Given the description of an element on the screen output the (x, y) to click on. 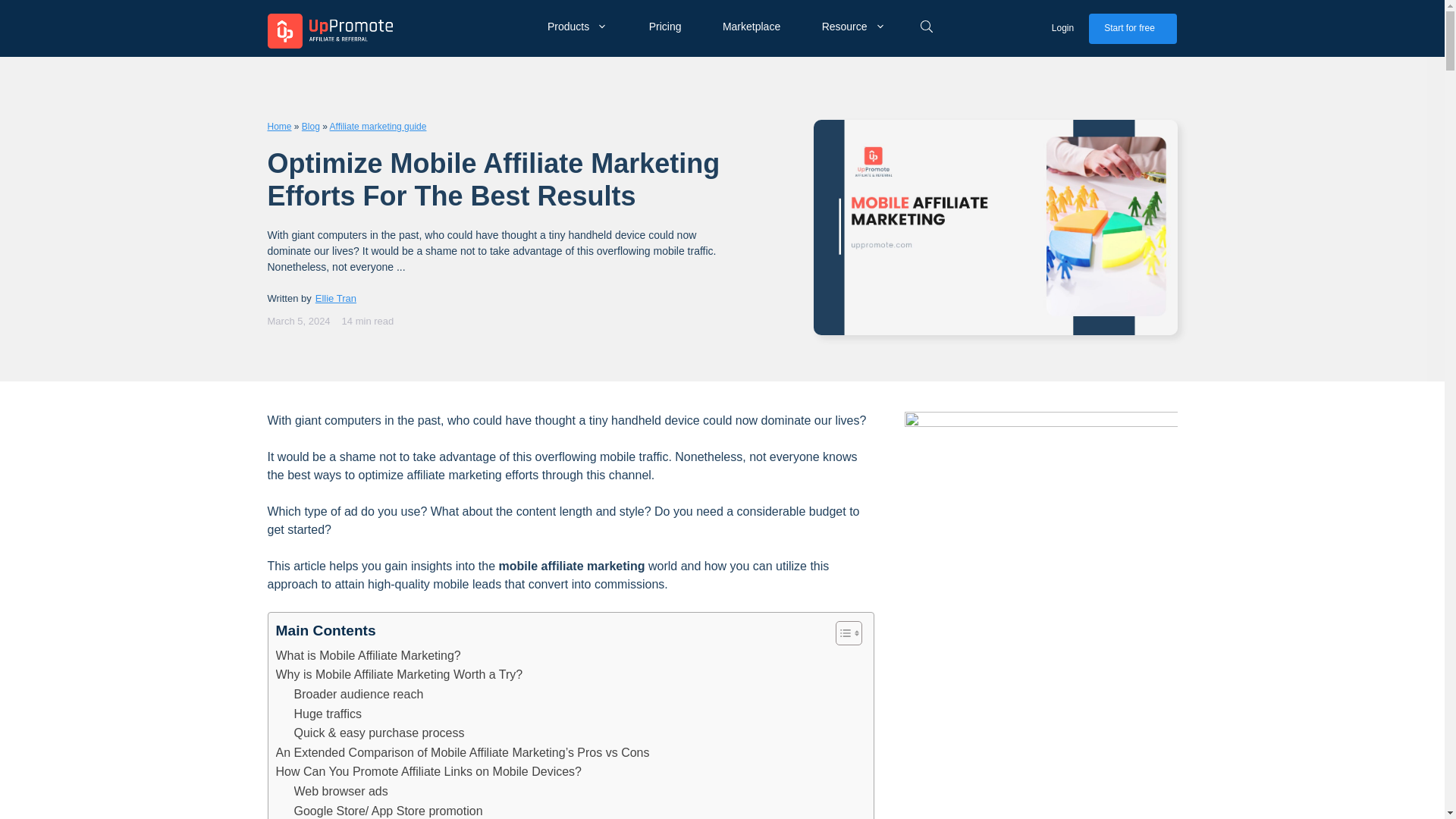
How Can You Promote Affiliate Links on Mobile Devices? (428, 772)
Web browser ads (341, 791)
Broader audience reach (358, 694)
How Can You Promote Affiliate Links on Mobile Devices? (428, 772)
Huge traffics (328, 713)
Web browser ads (341, 791)
Why is Mobile Affiliate Marketing Worth a Try? (399, 674)
Resource (858, 26)
Marketplace (756, 26)
What is Mobile Affiliate Marketing? (368, 655)
Broader audience reach (358, 694)
Ellie Tran (335, 297)
Start for free (1132, 28)
Home (278, 126)
Affiliate marketing guide (378, 126)
